Given the description of an element on the screen output the (x, y) to click on. 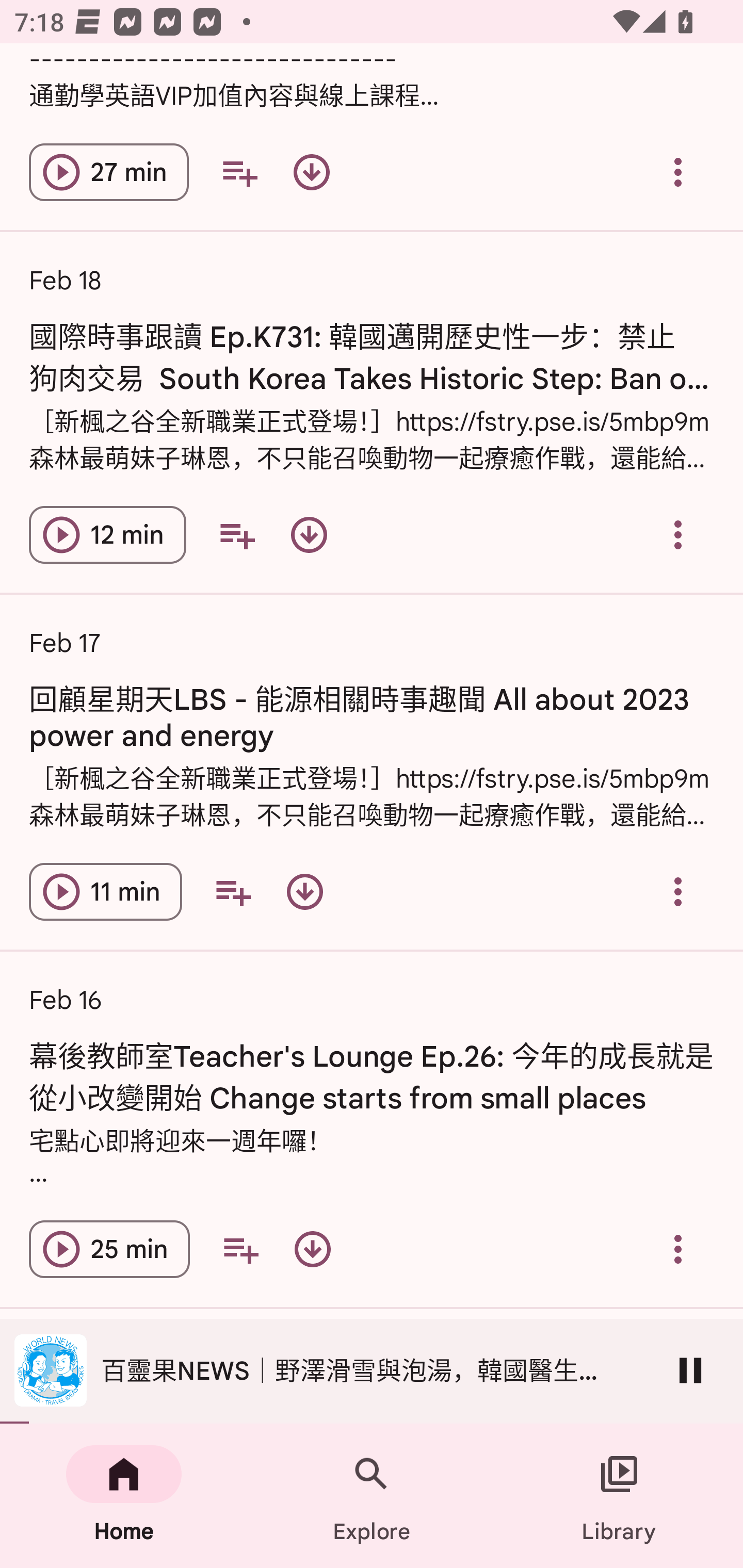
Add to your queue (239, 172)
Download episode (311, 172)
Overflow menu (677, 172)
Add to your queue (236, 534)
Download episode (308, 534)
Overflow menu (677, 534)
Add to your queue (232, 891)
Download episode (304, 891)
Overflow menu (677, 891)
Add to your queue (240, 1248)
Download episode (312, 1248)
Overflow menu (677, 1248)
Pause (690, 1370)
Explore (371, 1495)
Library (619, 1495)
